Given the description of an element on the screen output the (x, y) to click on. 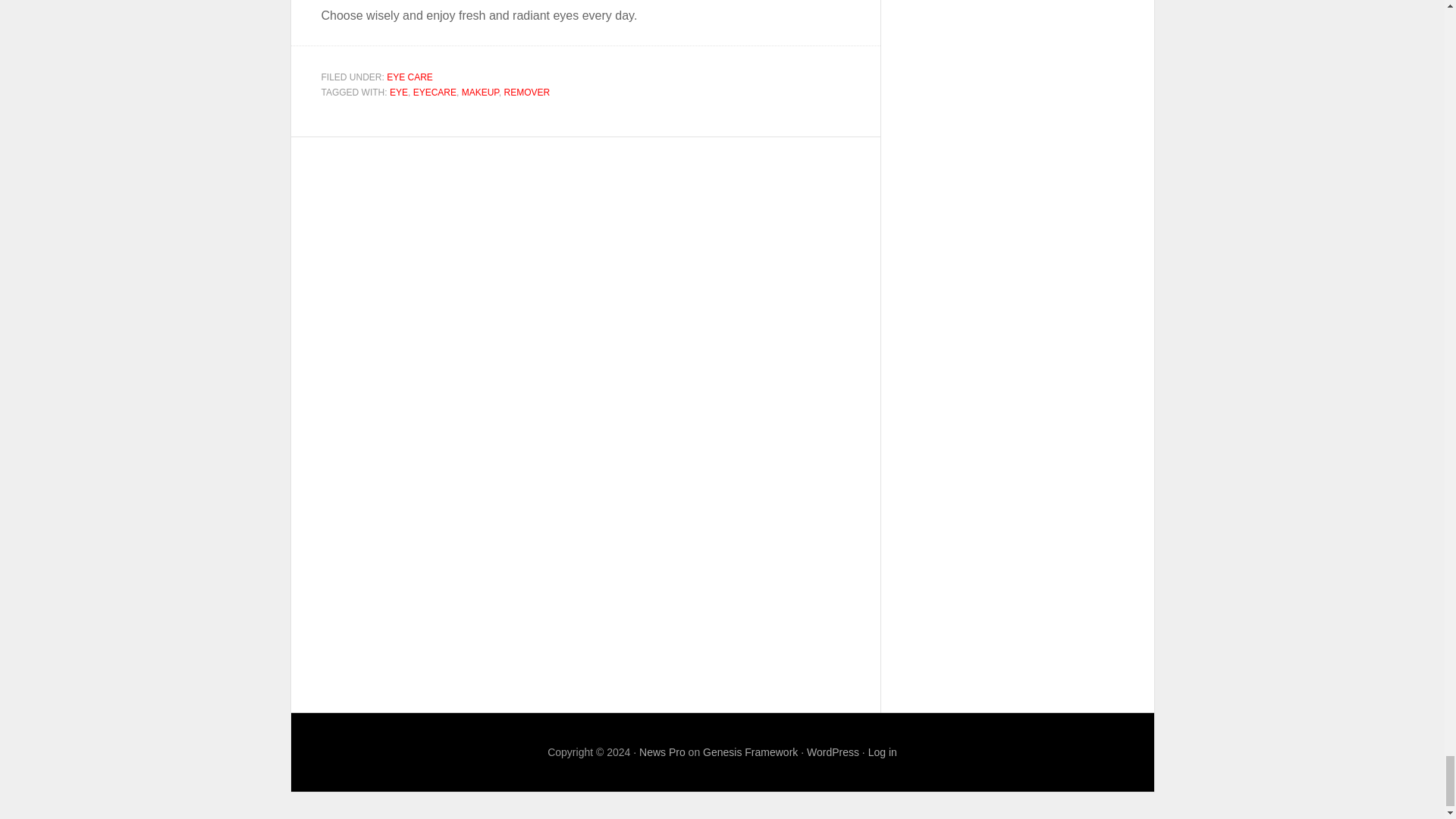
MAKEUP (480, 91)
EYE CARE (409, 77)
REMOVER (526, 91)
EYECARE (435, 91)
News Pro (662, 752)
EYE (398, 91)
